Given the description of an element on the screen output the (x, y) to click on. 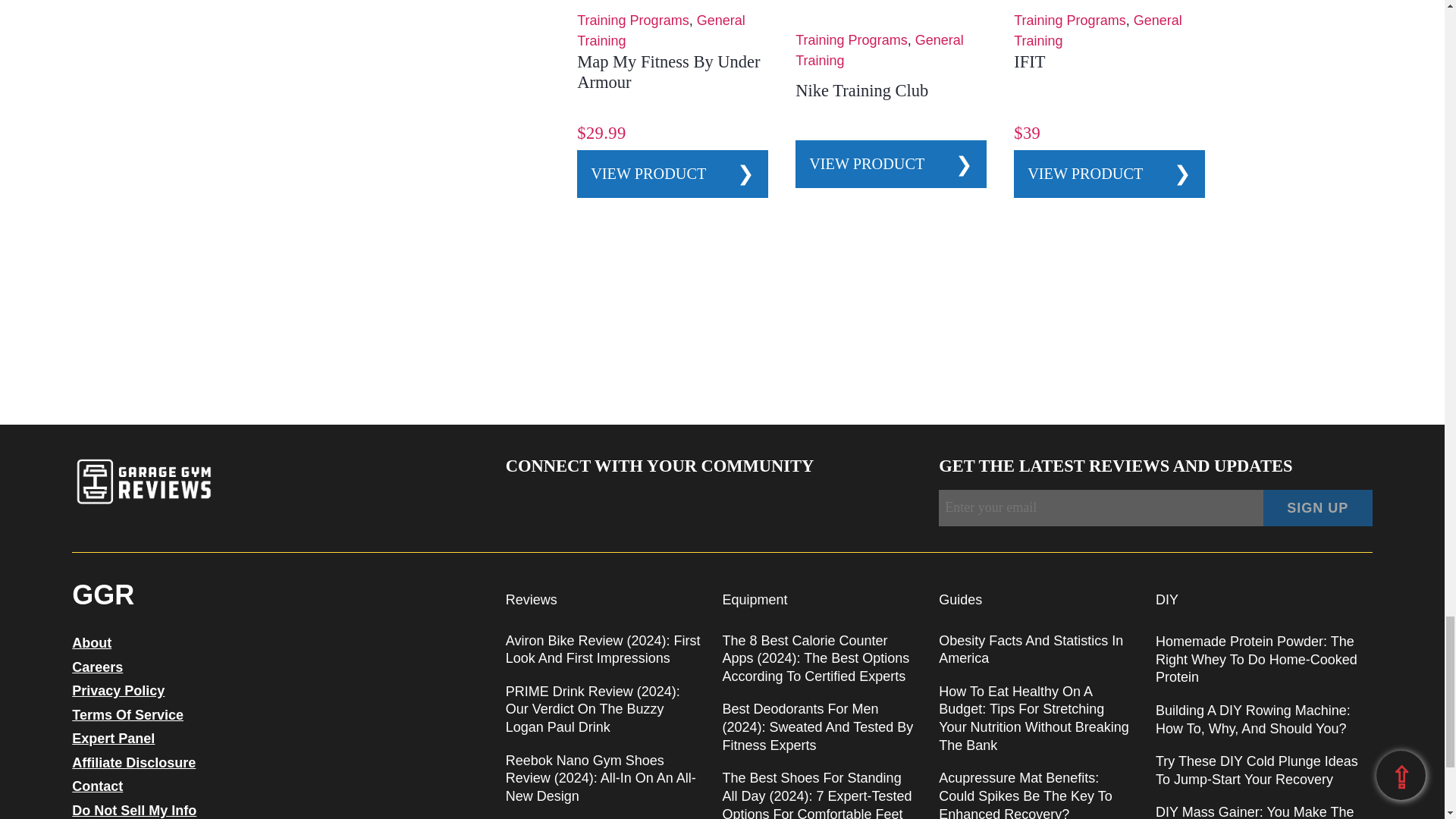
Sign Up (1318, 507)
Nike Training Club (861, 90)
iFIT (1029, 61)
Map My Fitness by Under Armour (668, 71)
Equipment (754, 599)
Reviews (531, 599)
